Given the description of an element on the screen output the (x, y) to click on. 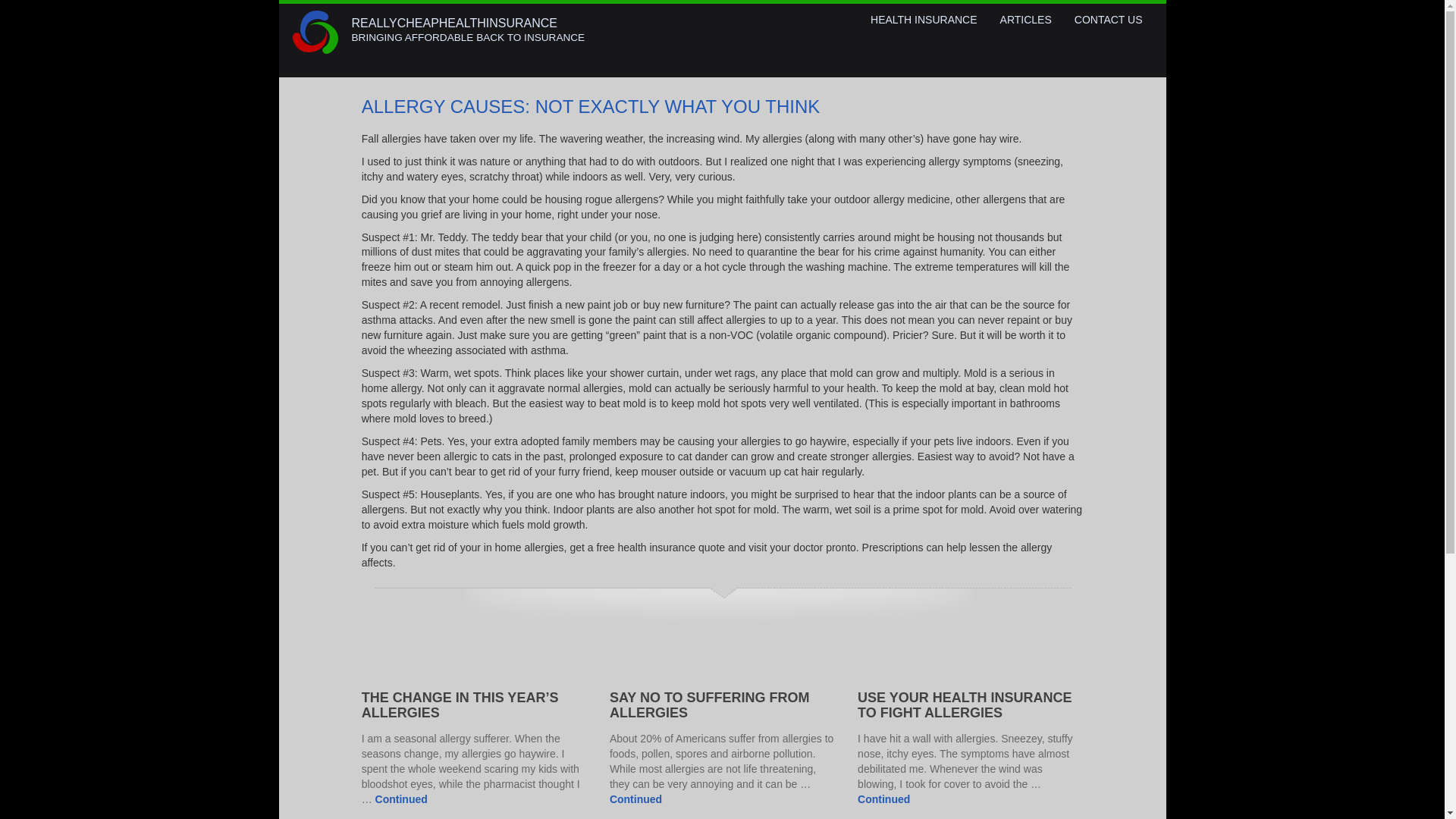
ARTICLES (1025, 19)
Continued (883, 799)
USE YOUR HEALTH INSURANCE TO FIGHT ALLERGIES (964, 705)
CONTACT US (1108, 19)
HEALTH INSURANCE (923, 19)
Continued (636, 799)
SAY NO TO SUFFERING FROM ALLERGIES (709, 705)
Continued (401, 799)
